Given the description of an element on the screen output the (x, y) to click on. 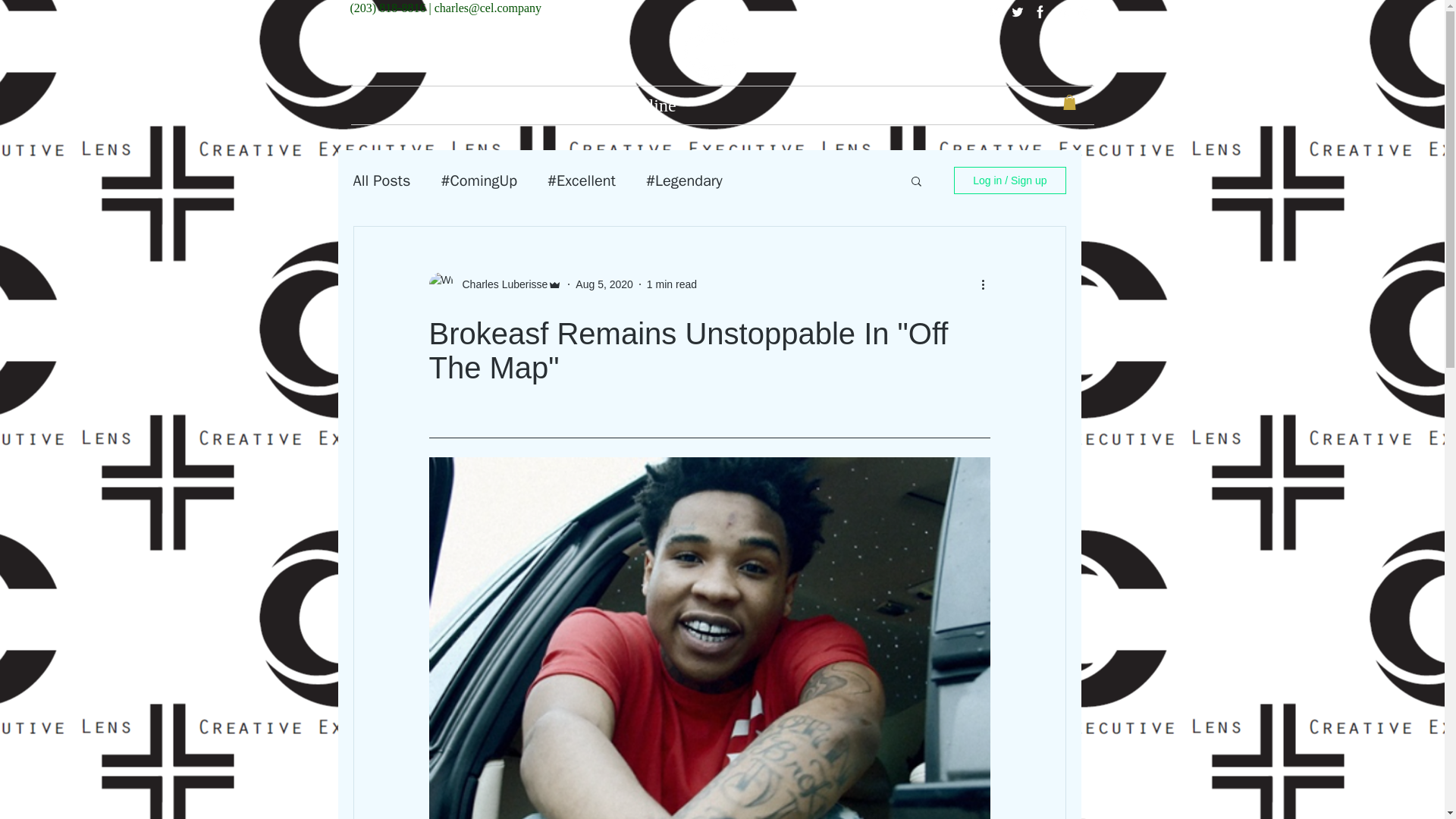
Aug 5, 2020 (604, 284)
Shop (1001, 105)
Book Online (629, 105)
All Posts (381, 180)
1 min read (671, 284)
About (442, 105)
Charles Luberisse (500, 284)
Blog (814, 105)
